Given the description of an element on the screen output the (x, y) to click on. 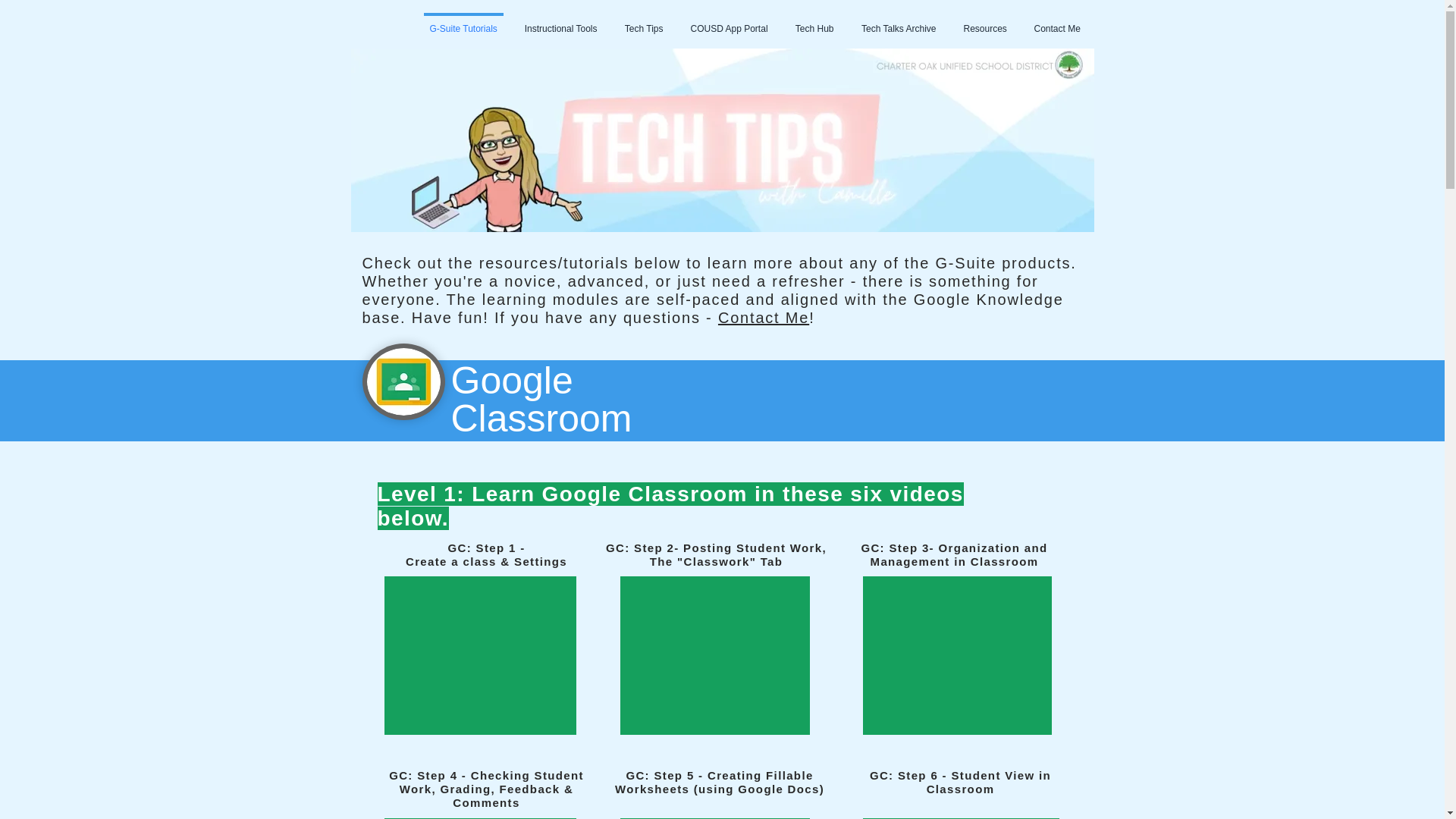
Tech Tips (644, 22)
External YouTube (957, 655)
Resources (984, 22)
G-Suite Tutorials (462, 22)
Contact Me (1057, 22)
External YouTube (714, 655)
Tech Hub (813, 22)
Instructional Tools (561, 22)
COUSD App Portal (728, 22)
Contact Me (763, 317)
